Given the description of an element on the screen output the (x, y) to click on. 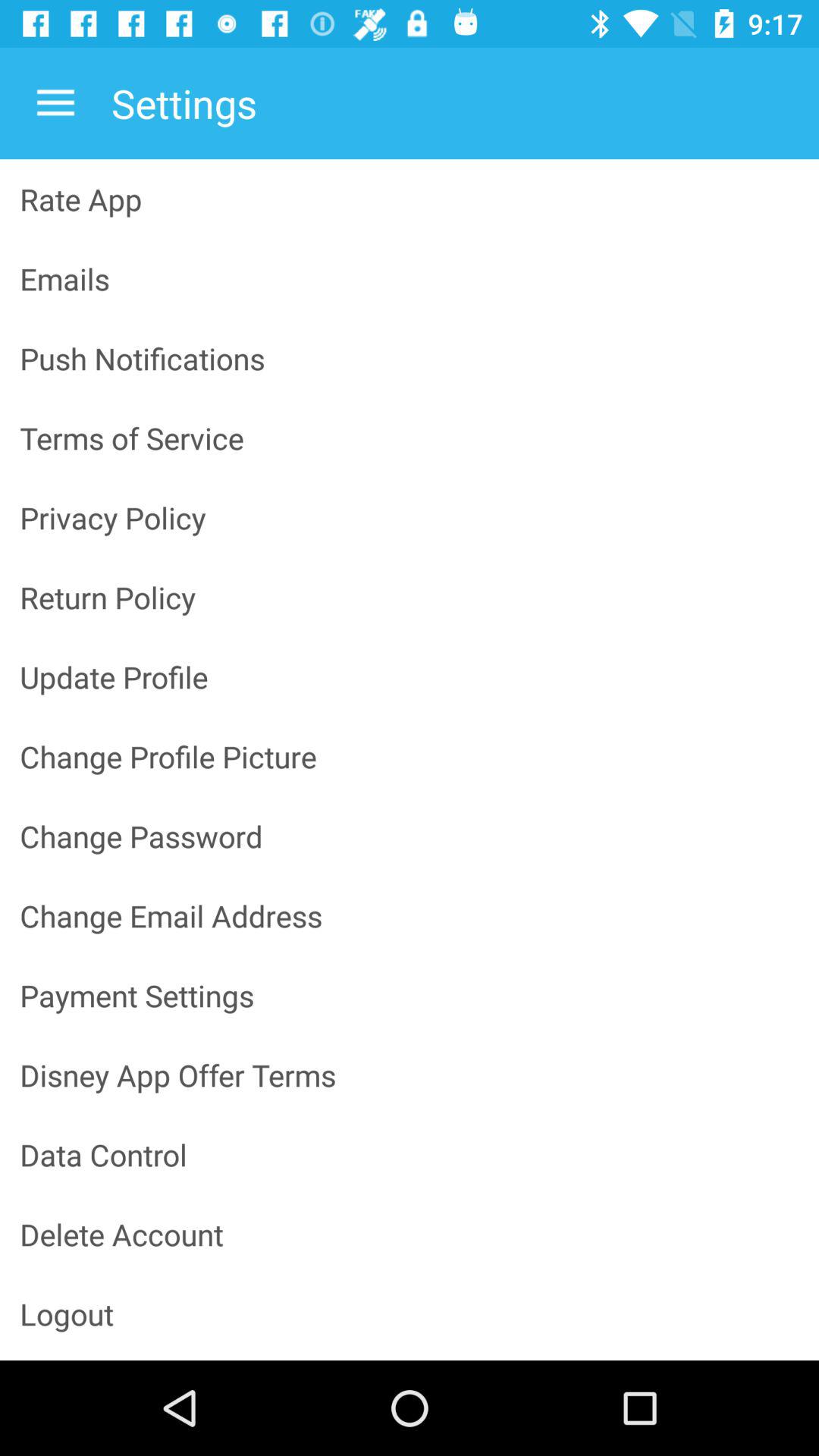
open the update profile icon (409, 676)
